Given the description of an element on the screen output the (x, y) to click on. 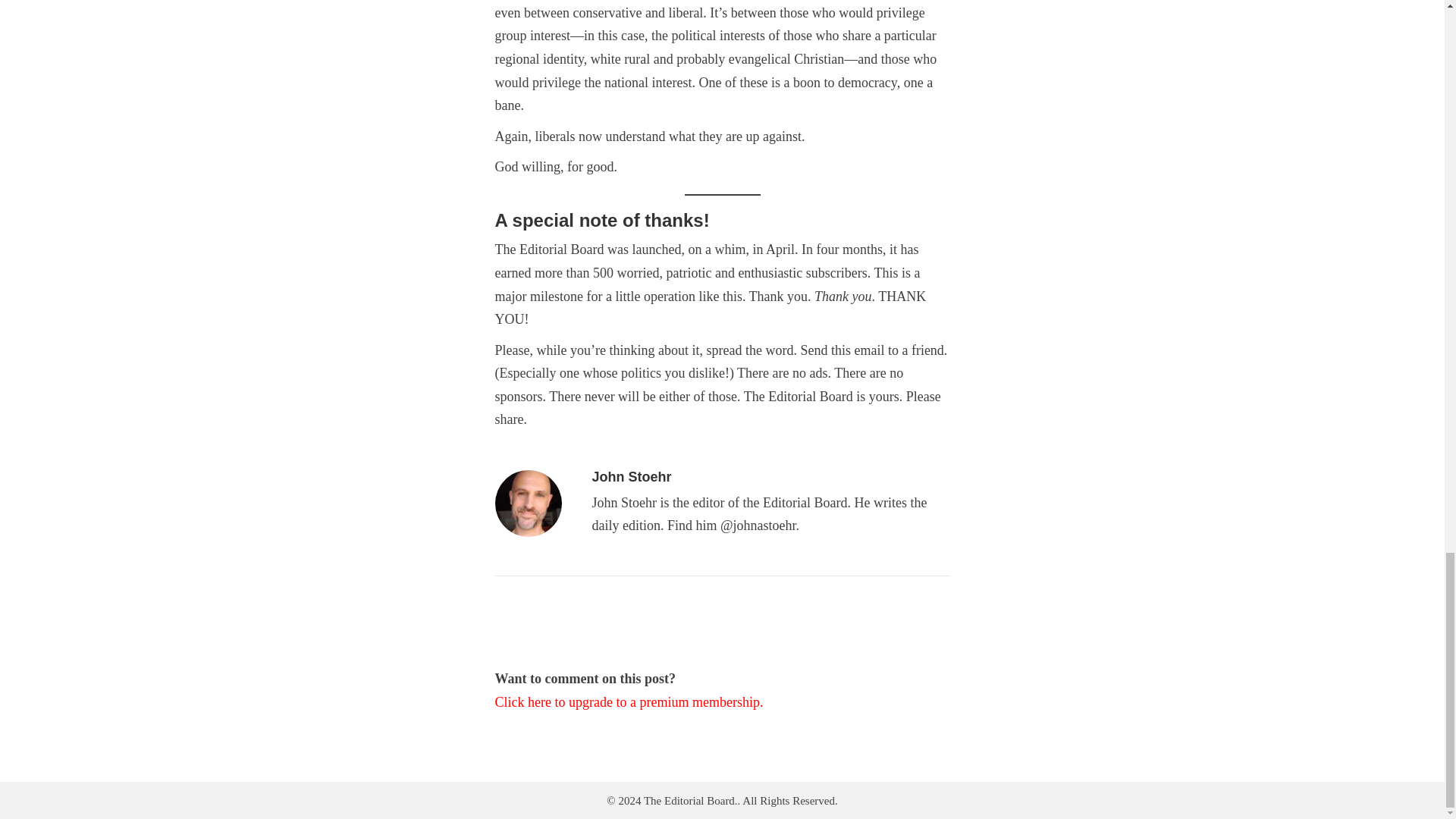
Click here to upgrade to a premium membership. (628, 702)
John Stoehr (631, 476)
